Given the description of an element on the screen output the (x, y) to click on. 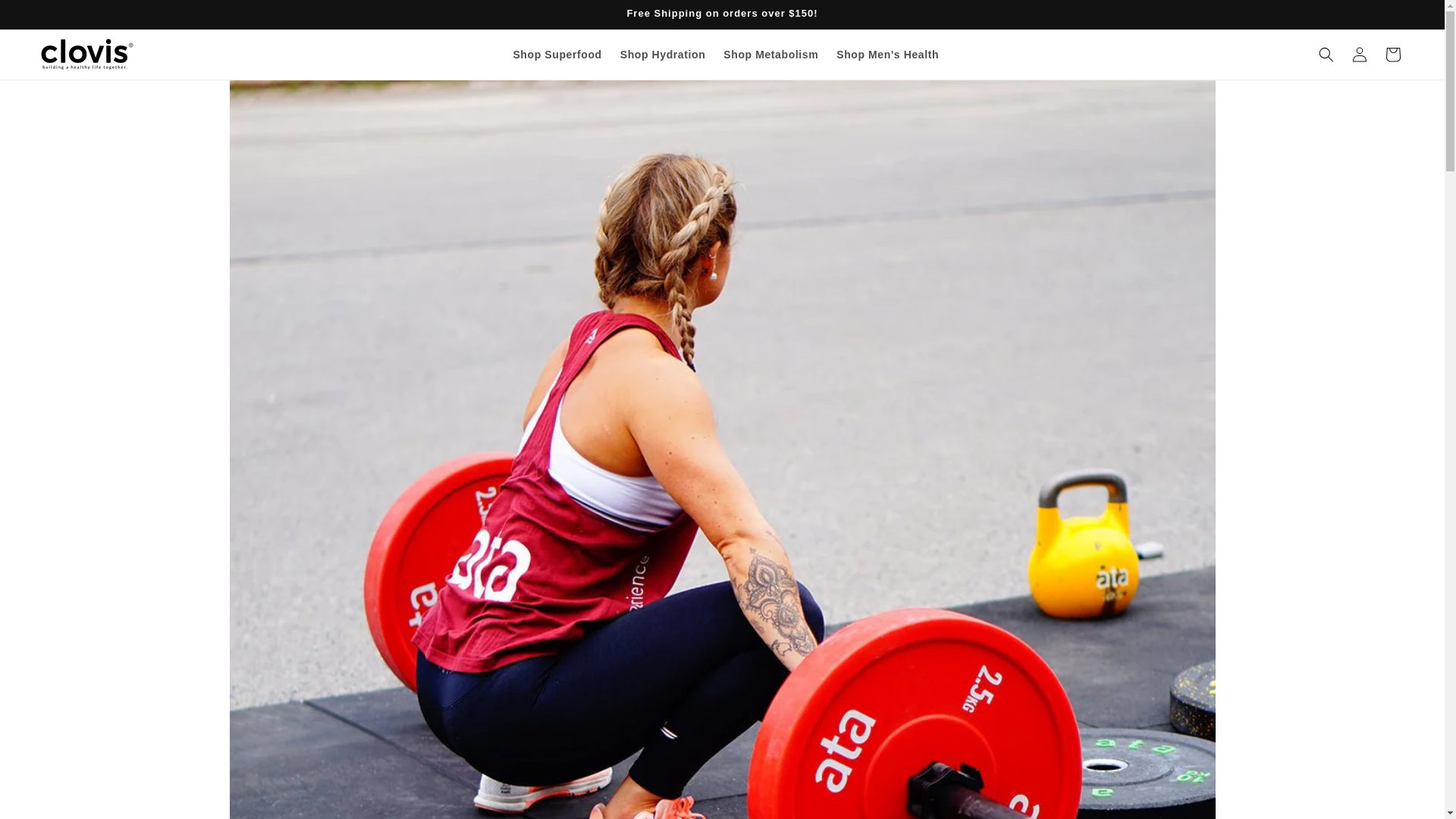
Shop Men's Health (887, 54)
Log in (1358, 54)
Shop Superfood (556, 54)
Cart (1392, 54)
Shop Metabolism (770, 54)
Shop Hydration (662, 54)
Skip to content (45, 17)
